Given the description of an element on the screen output the (x, y) to click on. 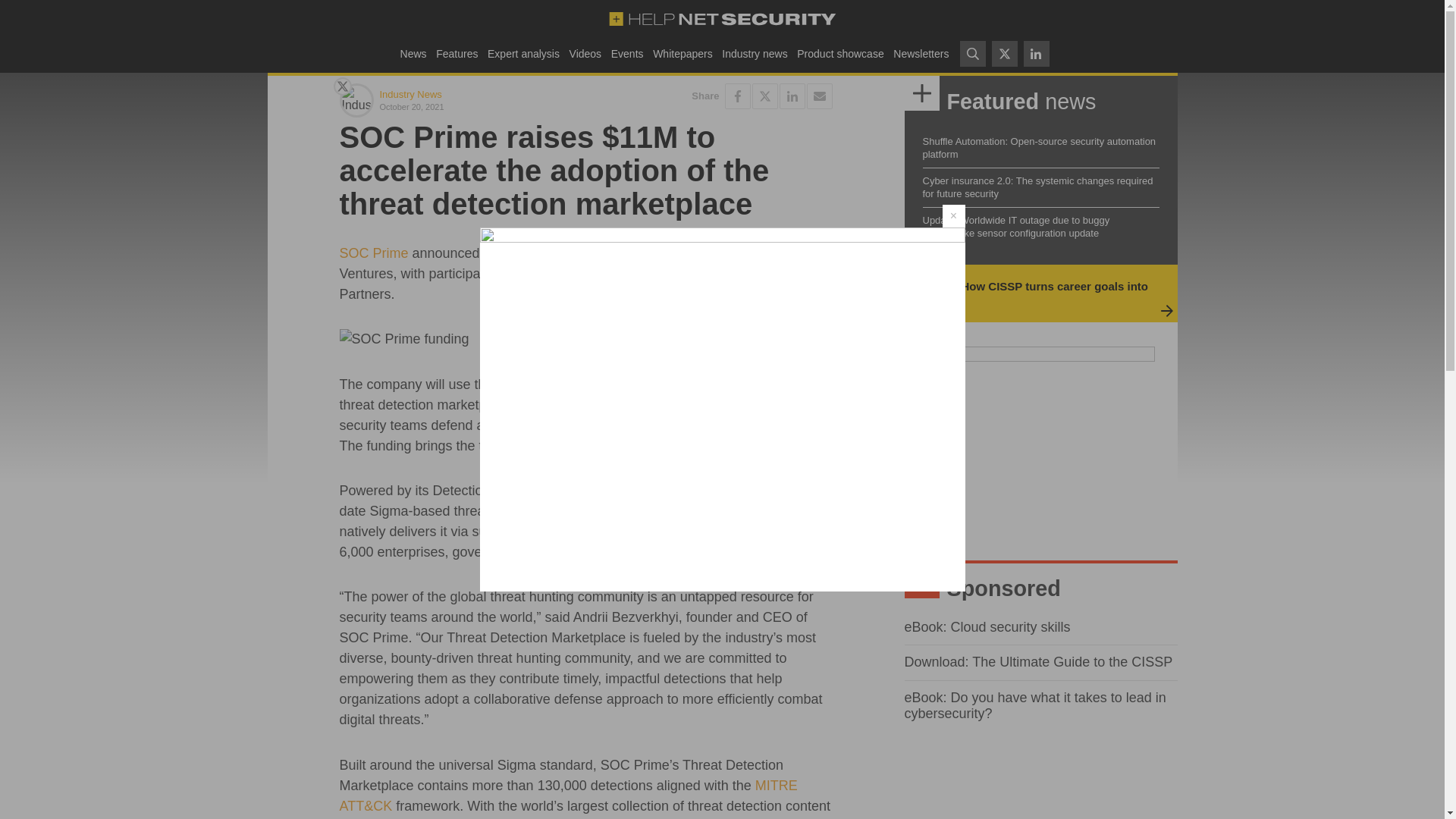
News (412, 53)
eBook: How CISSP turns career goals into reality (1032, 293)
October 20, 2021 (478, 106)
Product showcase (840, 53)
Events (626, 53)
Whitepapers (682, 53)
eBook: Do you have what it takes to lead in cybersecurity? (1035, 705)
Videos (584, 53)
Expert analysis (523, 53)
Industry news (754, 53)
XDR (667, 531)
Industry News (409, 93)
Features (456, 53)
